Given the description of an element on the screen output the (x, y) to click on. 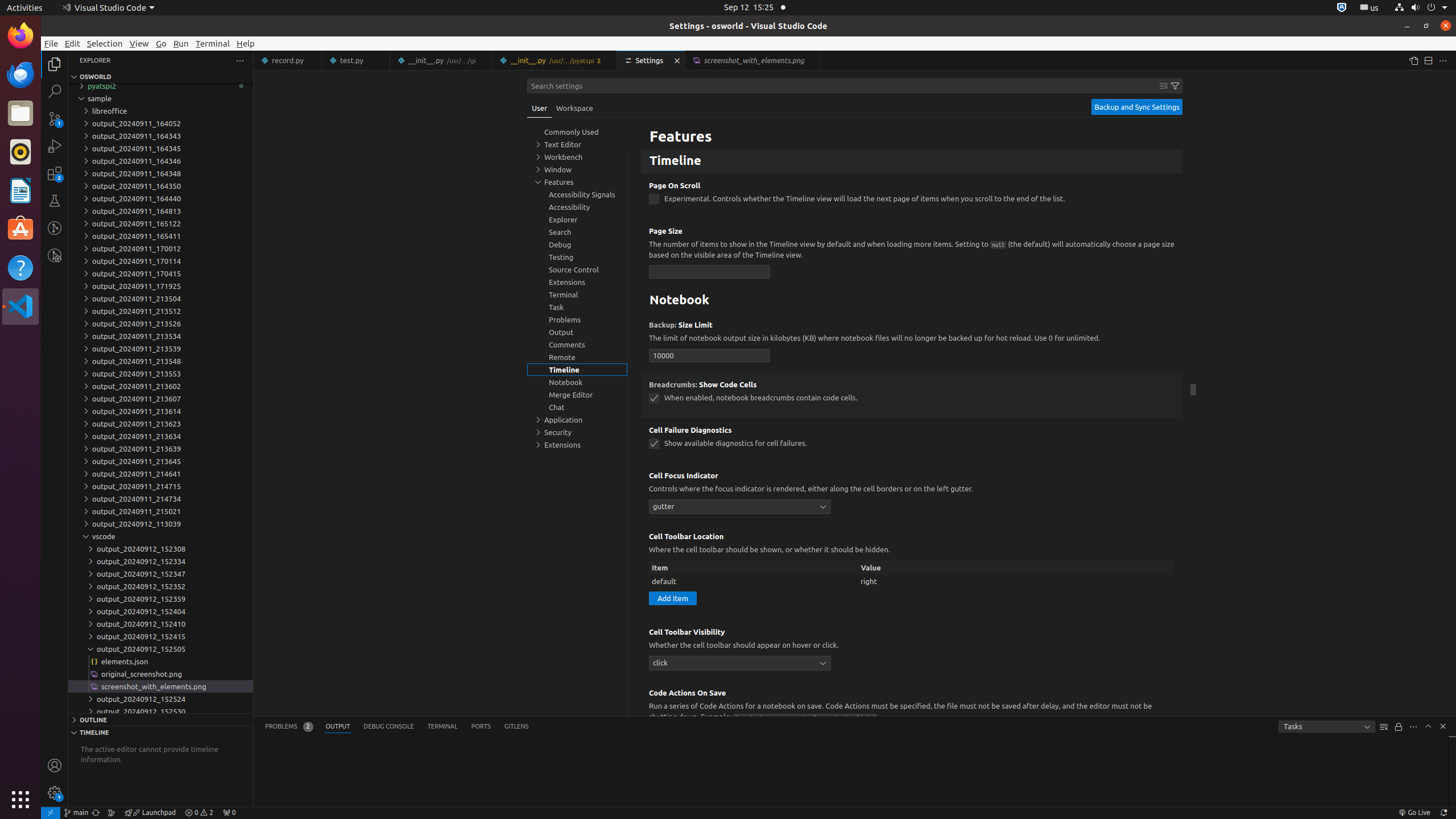
Merge Editor, group Element type: tree-item (577, 394)
Timeline, group Element type: tree-item (577, 369)
Explorer, group Element type: tree-item (577, 219)
output_20240912_152415 Element type: tree-item (160, 636)
output_20240911_164052 Element type: tree-item (160, 123)
